Given the description of an element on the screen output the (x, y) to click on. 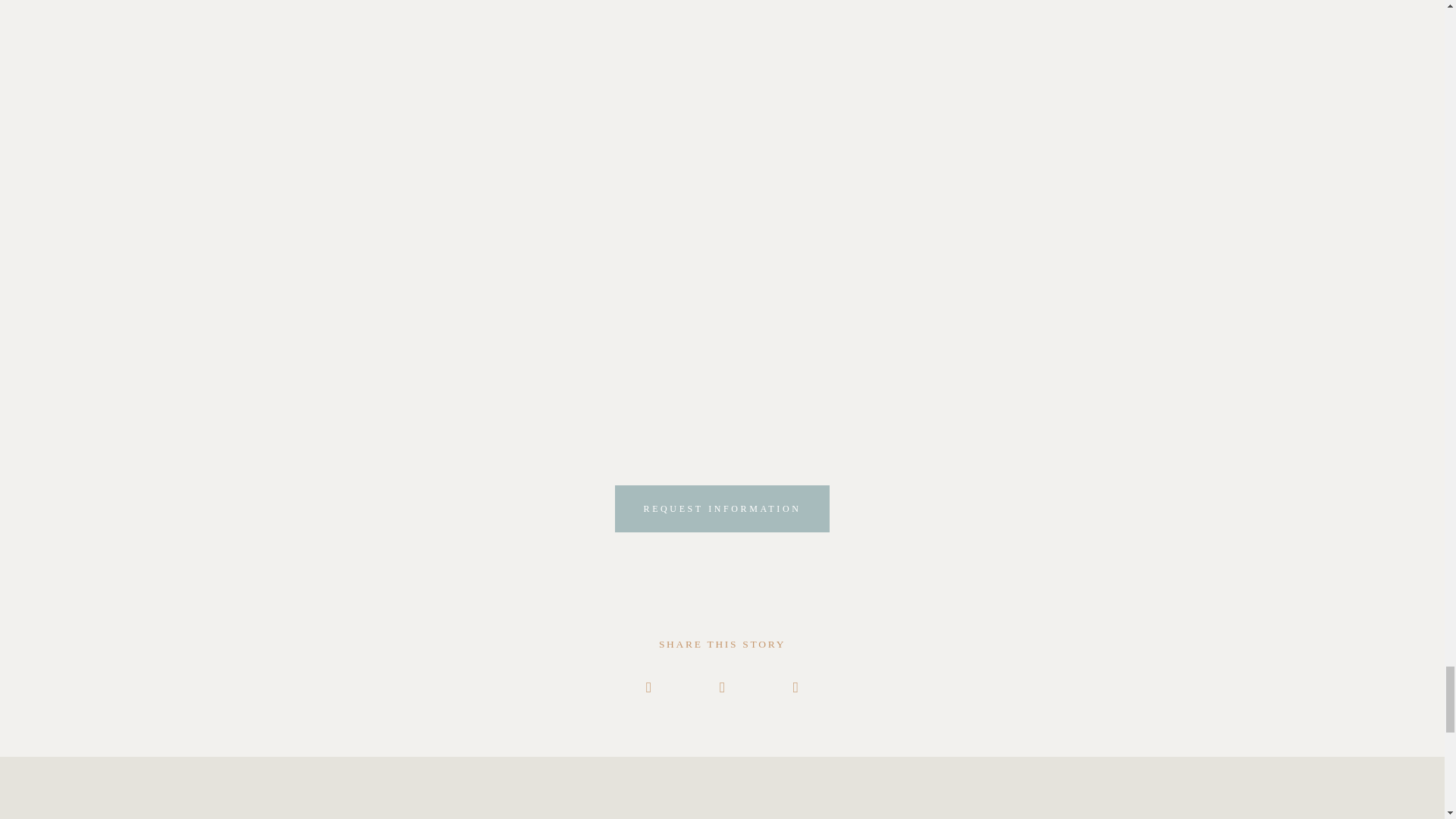
REQUEST INFORMATION (721, 508)
